Given the description of an element on the screen output the (x, y) to click on. 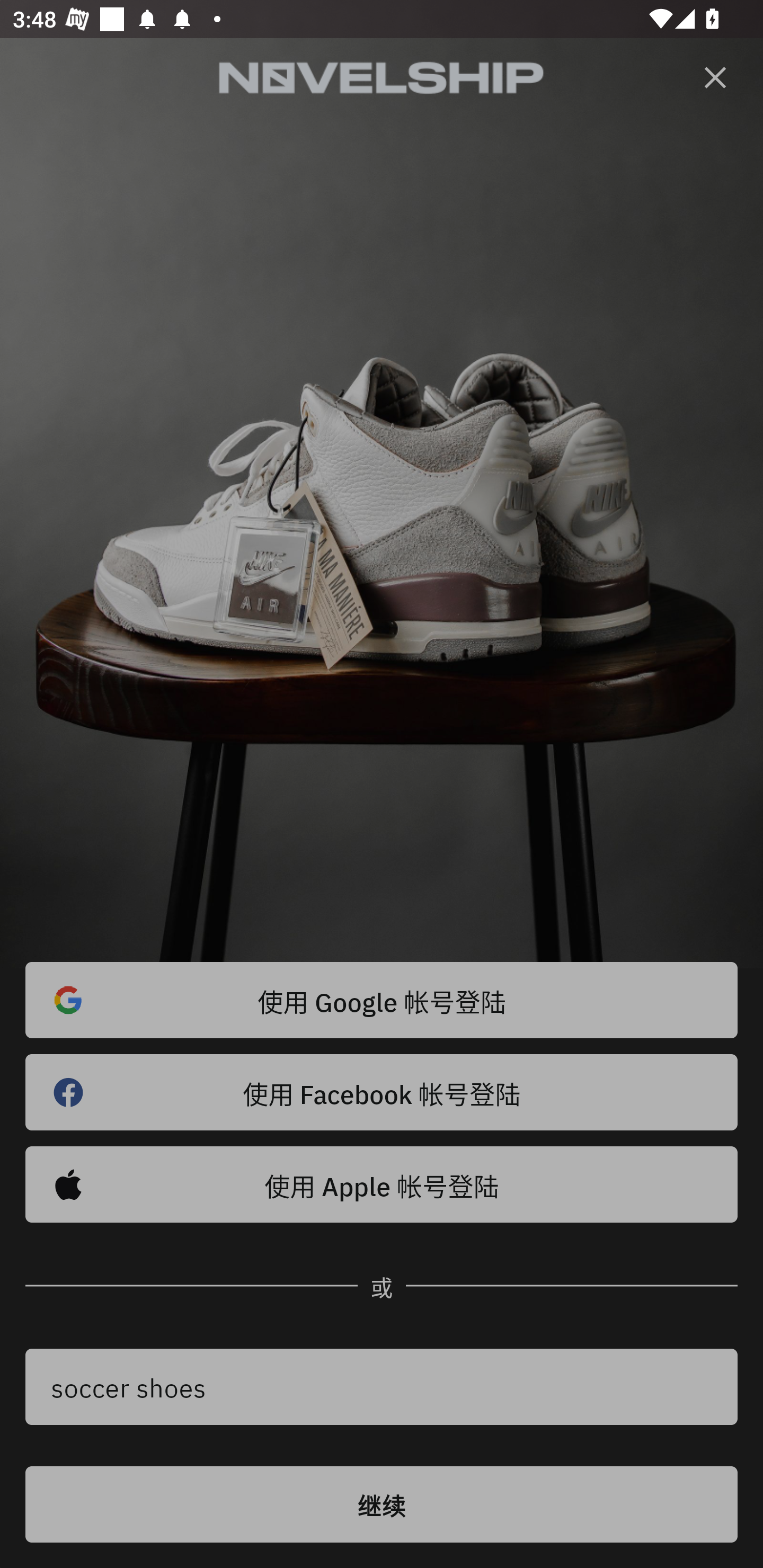
使用 Google 帐号登陆 (381, 1000)
使用 Facebook 帐号登陆 󰈌 (381, 1091)
 使用 Apple 帐号登陆 (381, 1184)
soccer shoes (381, 1386)
继续 (381, 1504)
